Given the description of an element on the screen output the (x, y) to click on. 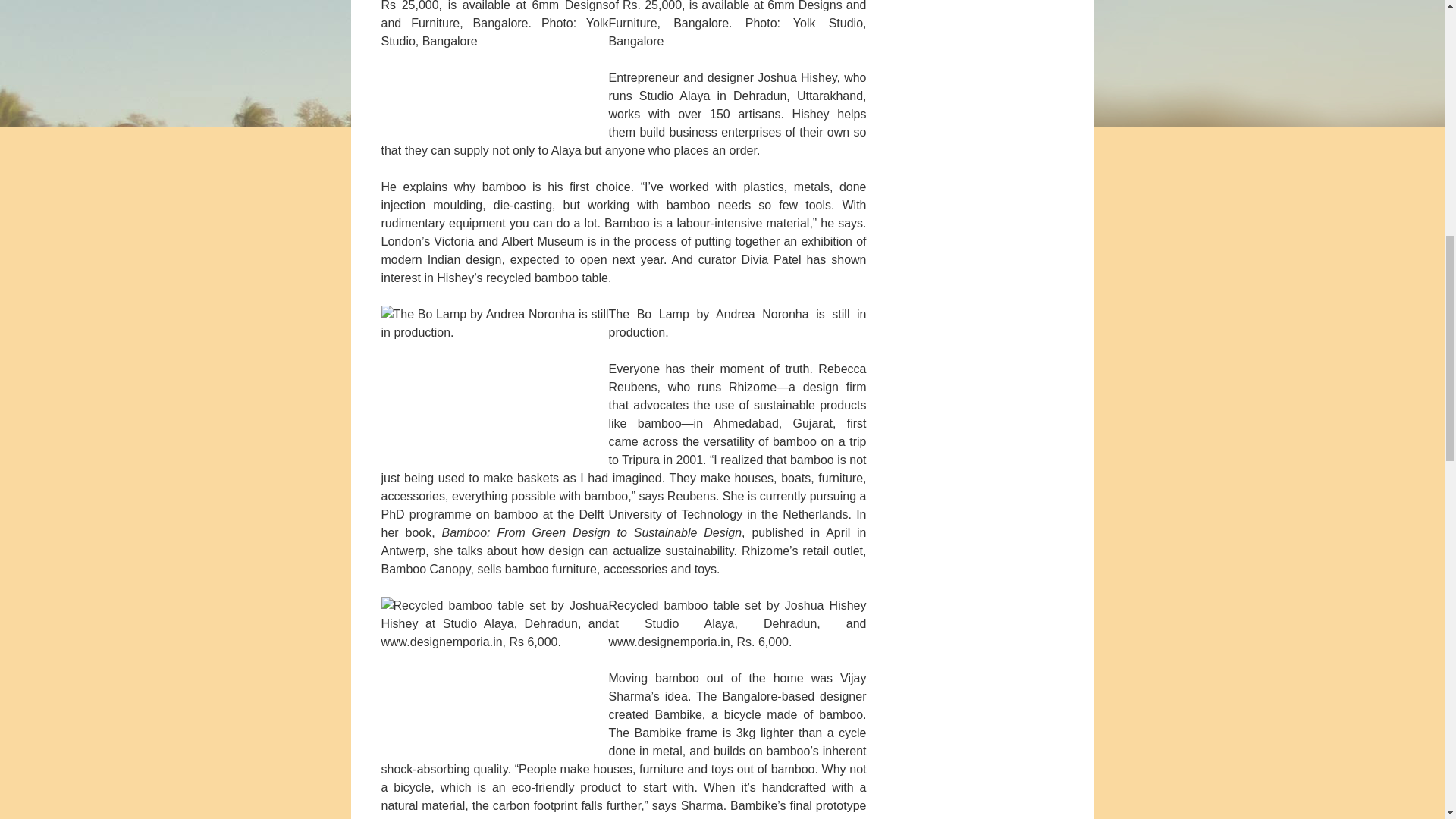
The Bo Lamp by Andrea Noronha is still in production. (494, 381)
